Given the description of an element on the screen output the (x, y) to click on. 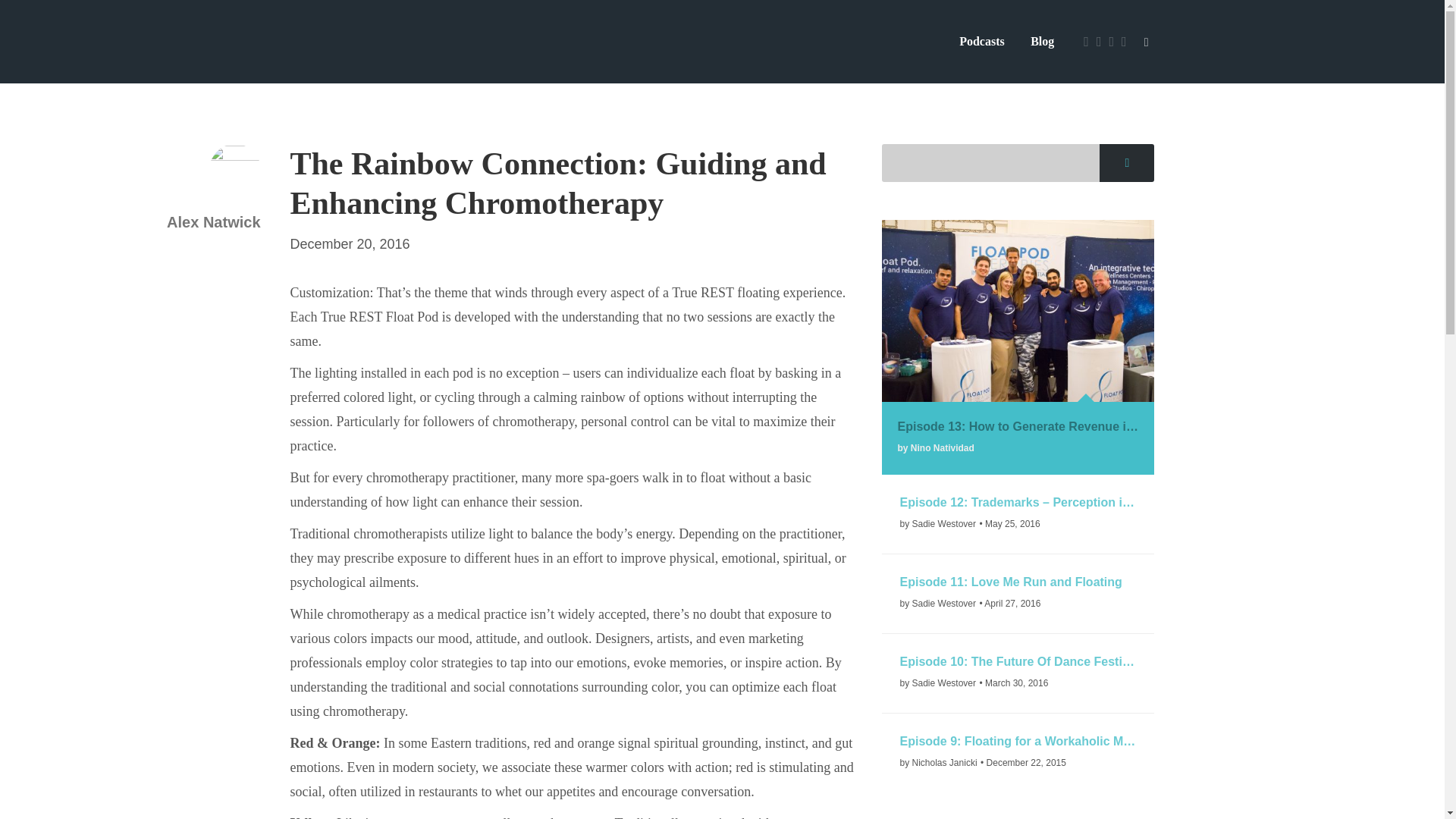
Episode 13: How to Generate Revenue in Your Float Business (1018, 425)
Float Podcast (389, 41)
Episode 10: The Future Of Dance Festivals And Floating (1017, 660)
Episode 9: Floating for a Workaholic Marathon Runner (1017, 741)
Alex Natwick (184, 231)
Episode 11: Love Me Run and Floating (1017, 581)
